Given the description of an element on the screen output the (x, y) to click on. 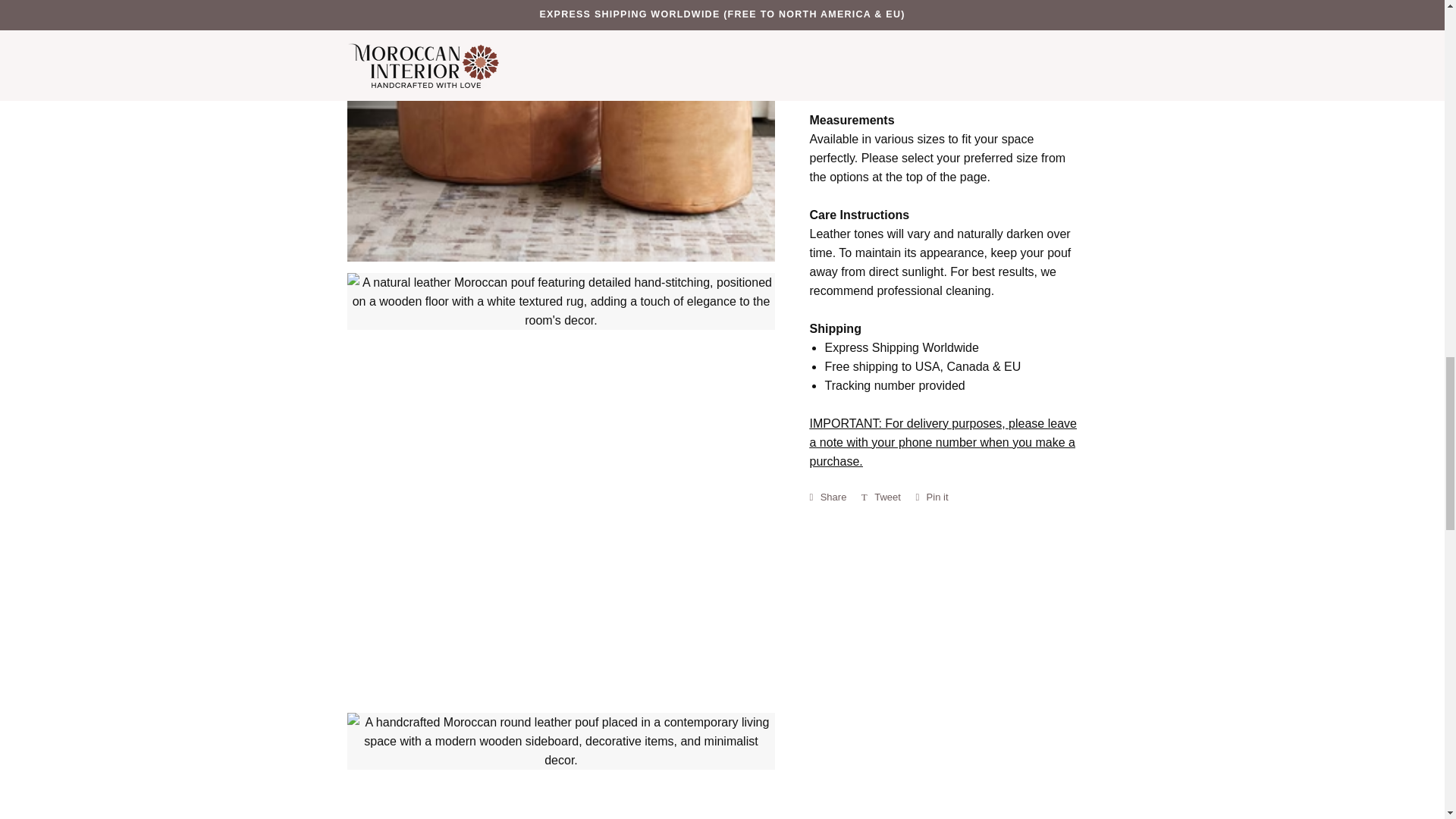
Pin on Pinterest (935, 497)
Share on Facebook (831, 497)
Tweet on Twitter (884, 497)
